Given the description of an element on the screen output the (x, y) to click on. 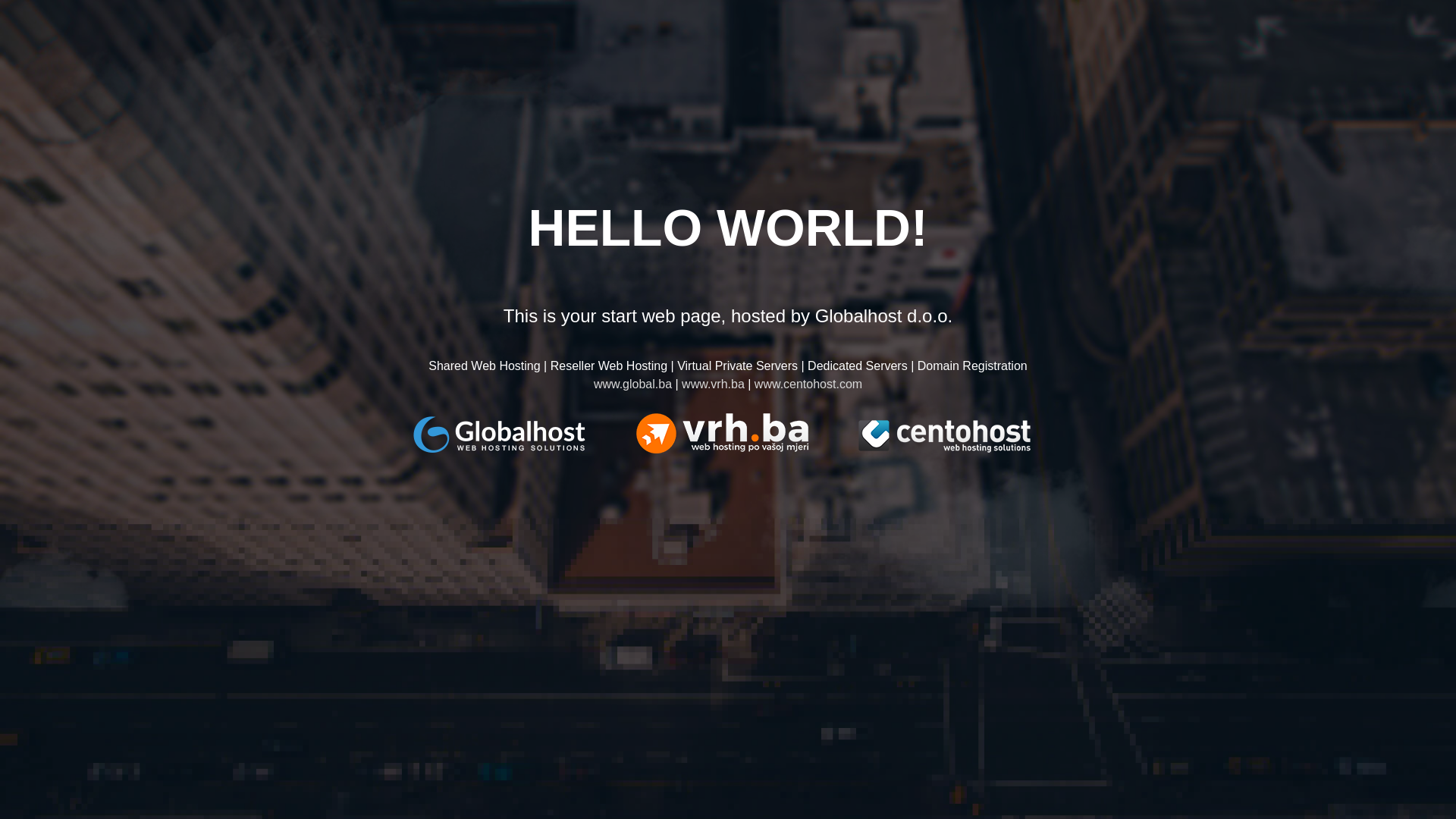
www.global.ba Element type: text (632, 383)
www.vrh.ba Element type: text (712, 383)
www.centohost.com Element type: text (808, 383)
                Element type: text (524, 433)
                Element type: text (746, 433)
